Given the description of an element on the screen output the (x, y) to click on. 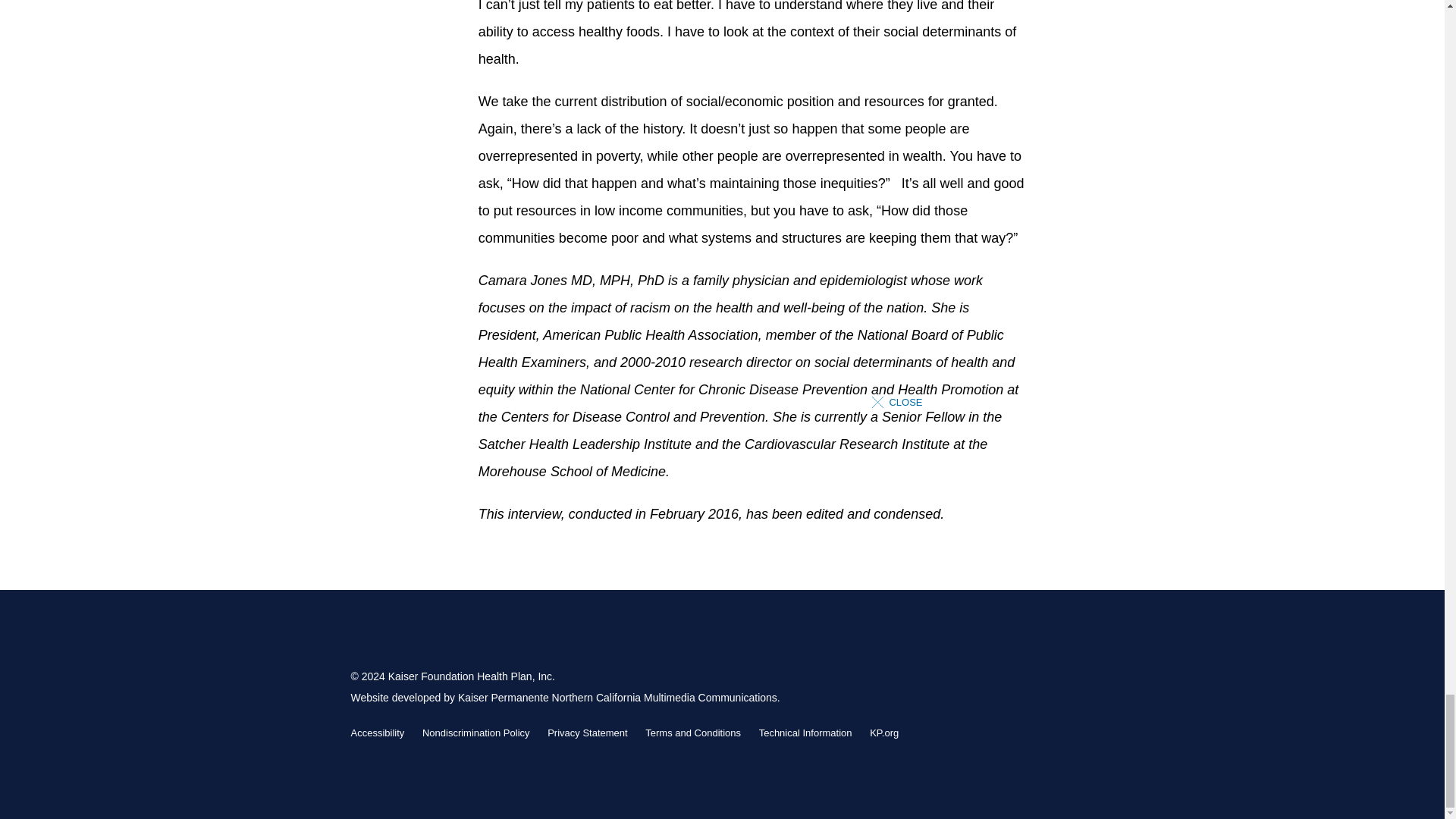
Terms and Conditions (693, 732)
KP.org (883, 732)
Nondiscrimination Policy (475, 732)
Technical Information (804, 732)
Privacy Statement (587, 732)
Accessibility (377, 732)
